Given the description of an element on the screen output the (x, y) to click on. 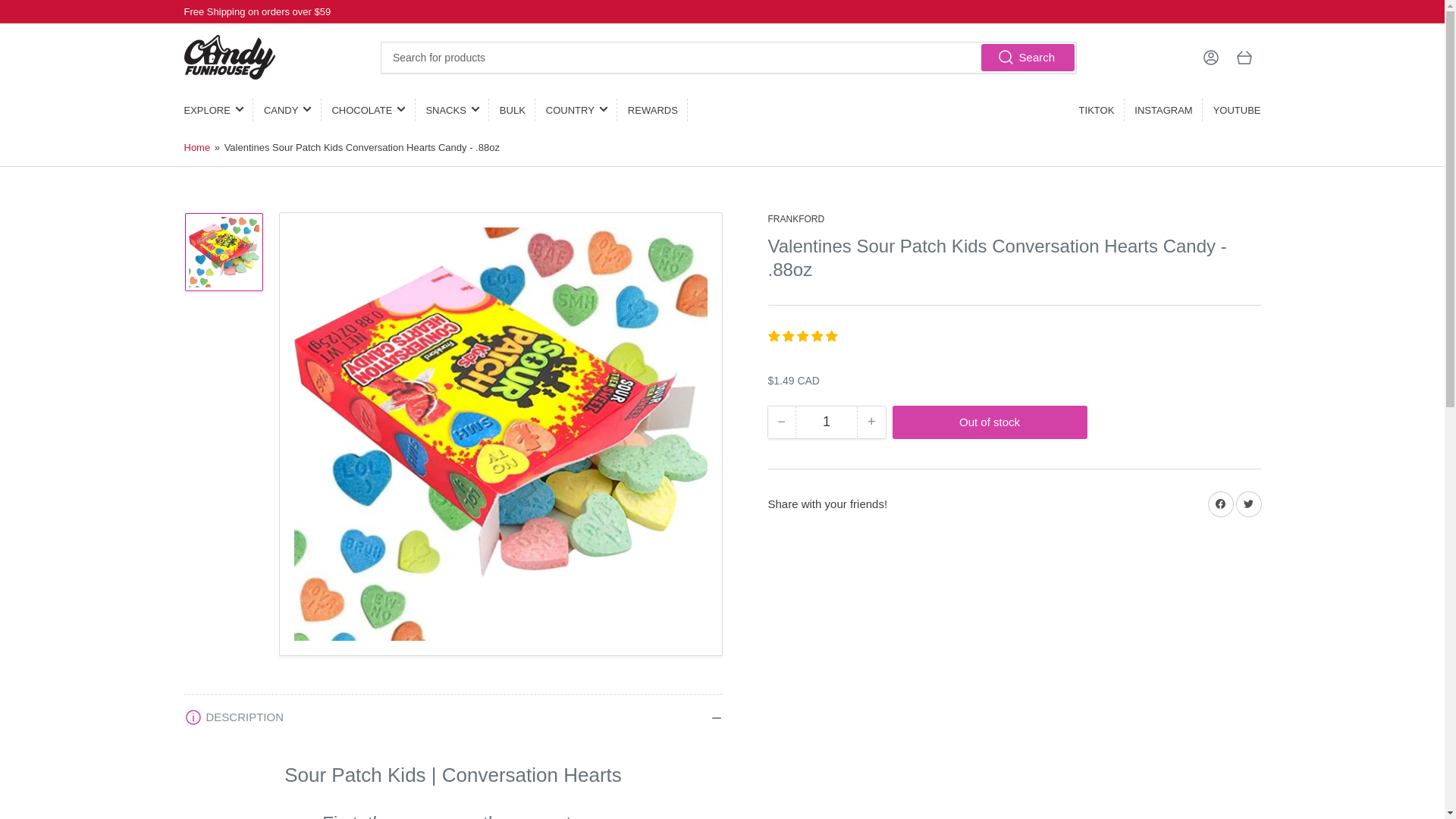
1 (825, 422)
Log in (1210, 57)
Open mini cart (1243, 57)
Frankford (795, 218)
Search (1027, 56)
